Given the description of an element on the screen output the (x, y) to click on. 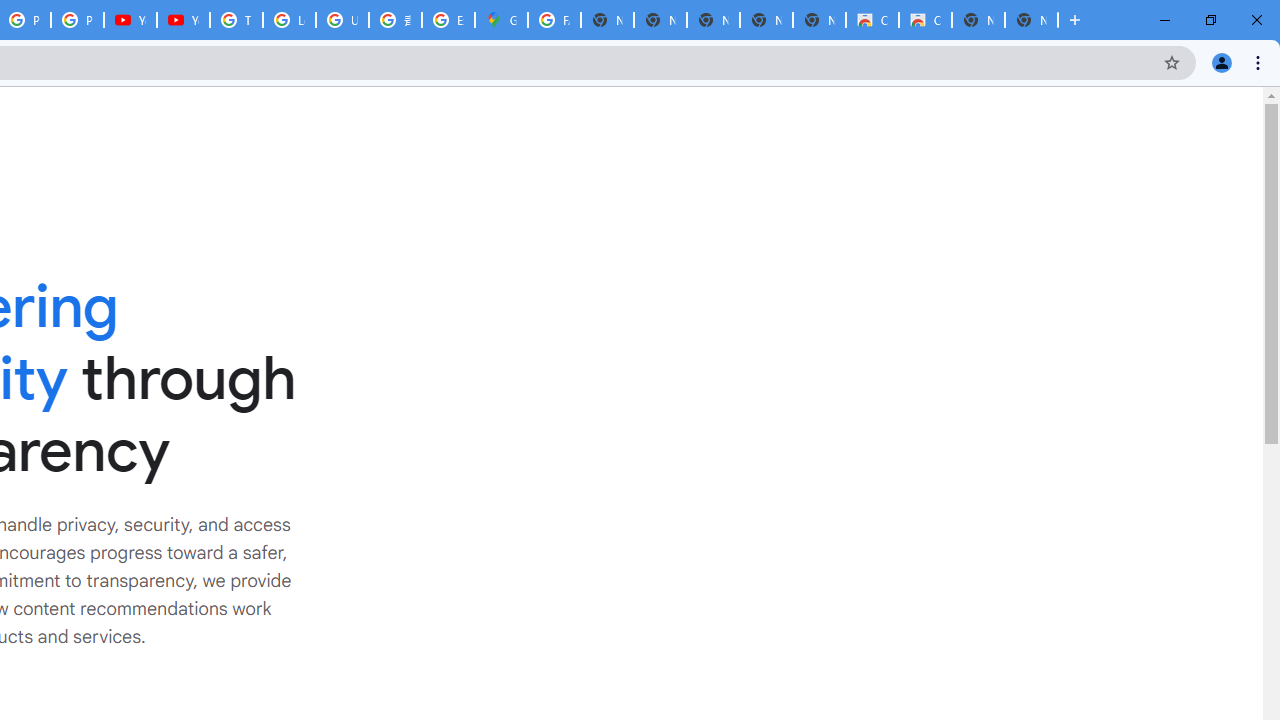
Classic Blue - Chrome Web Store (925, 20)
YouTube (183, 20)
New Tab (1031, 20)
Explore new street-level details - Google Maps Help (448, 20)
